Given the description of an element on the screen output the (x, y) to click on. 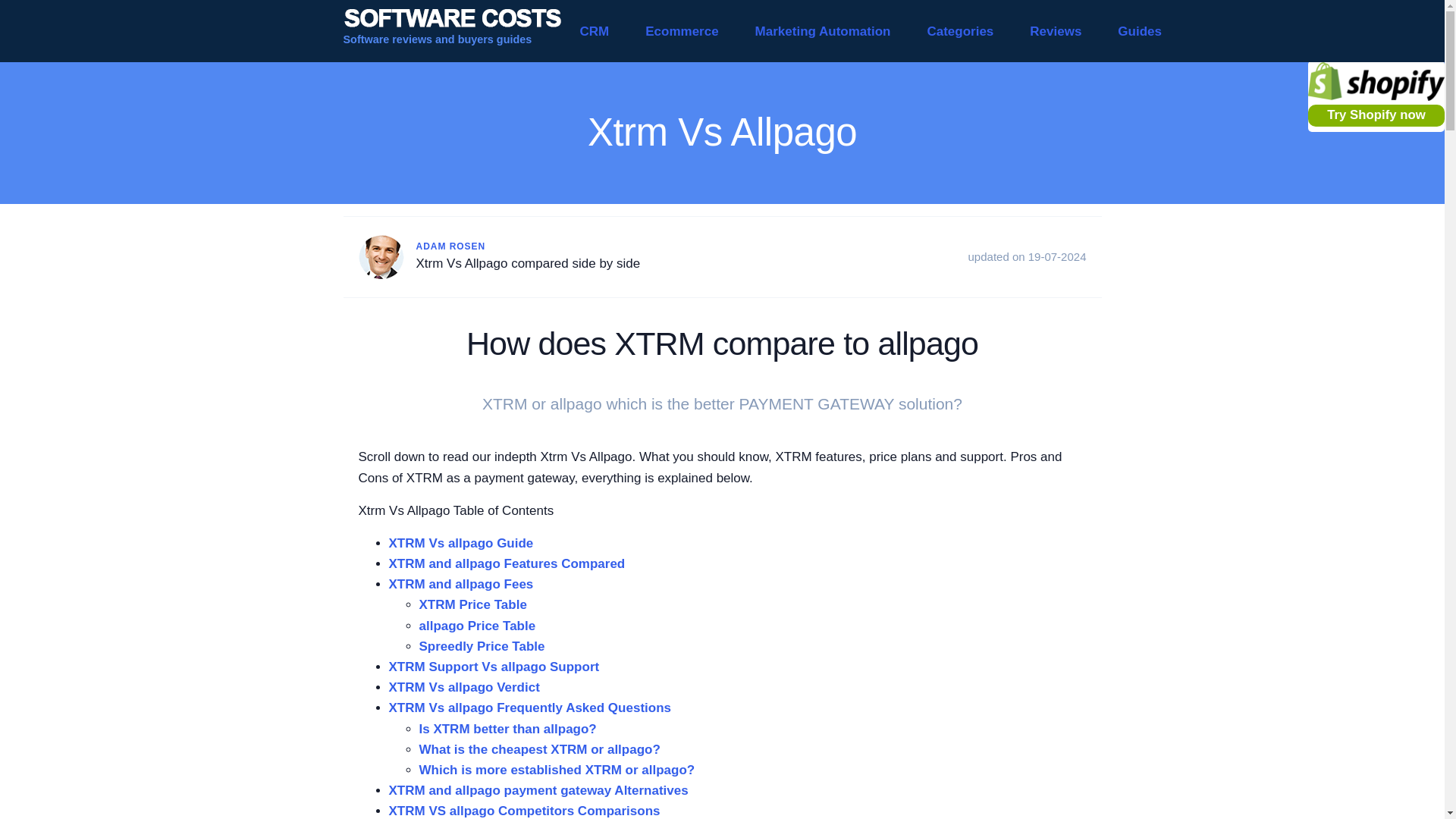
Software reviews and buyers guides (451, 31)
CRM (593, 31)
Adam Rosen Technology Writer (380, 257)
